Given the description of an element on the screen output the (x, y) to click on. 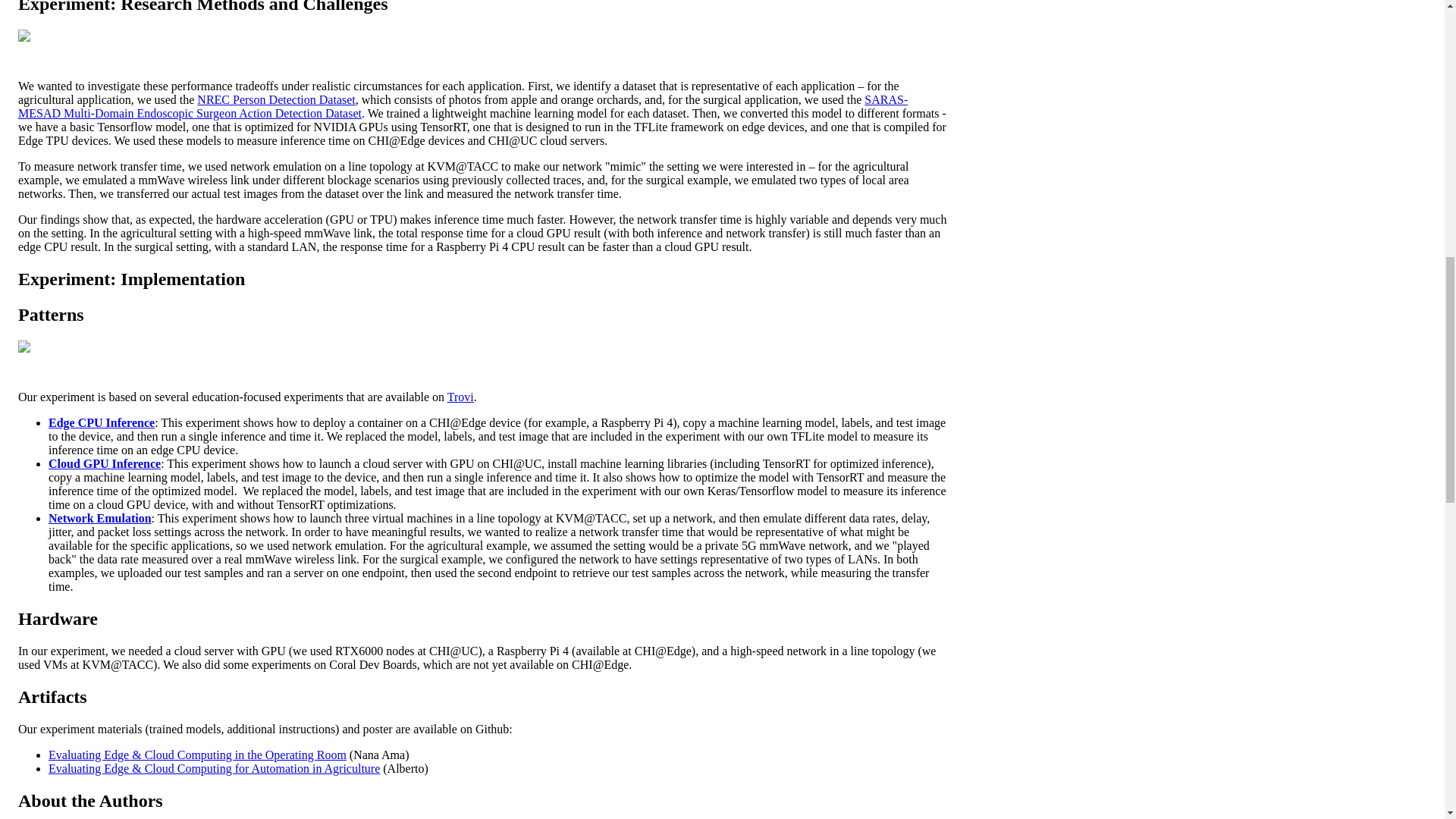
NREC Person Detection Dataset (275, 99)
Trovi (460, 396)
Network Emulation (99, 517)
Edge CPU Inference (101, 422)
Cloud GPU Inference (104, 463)
